Given the description of an element on the screen output the (x, y) to click on. 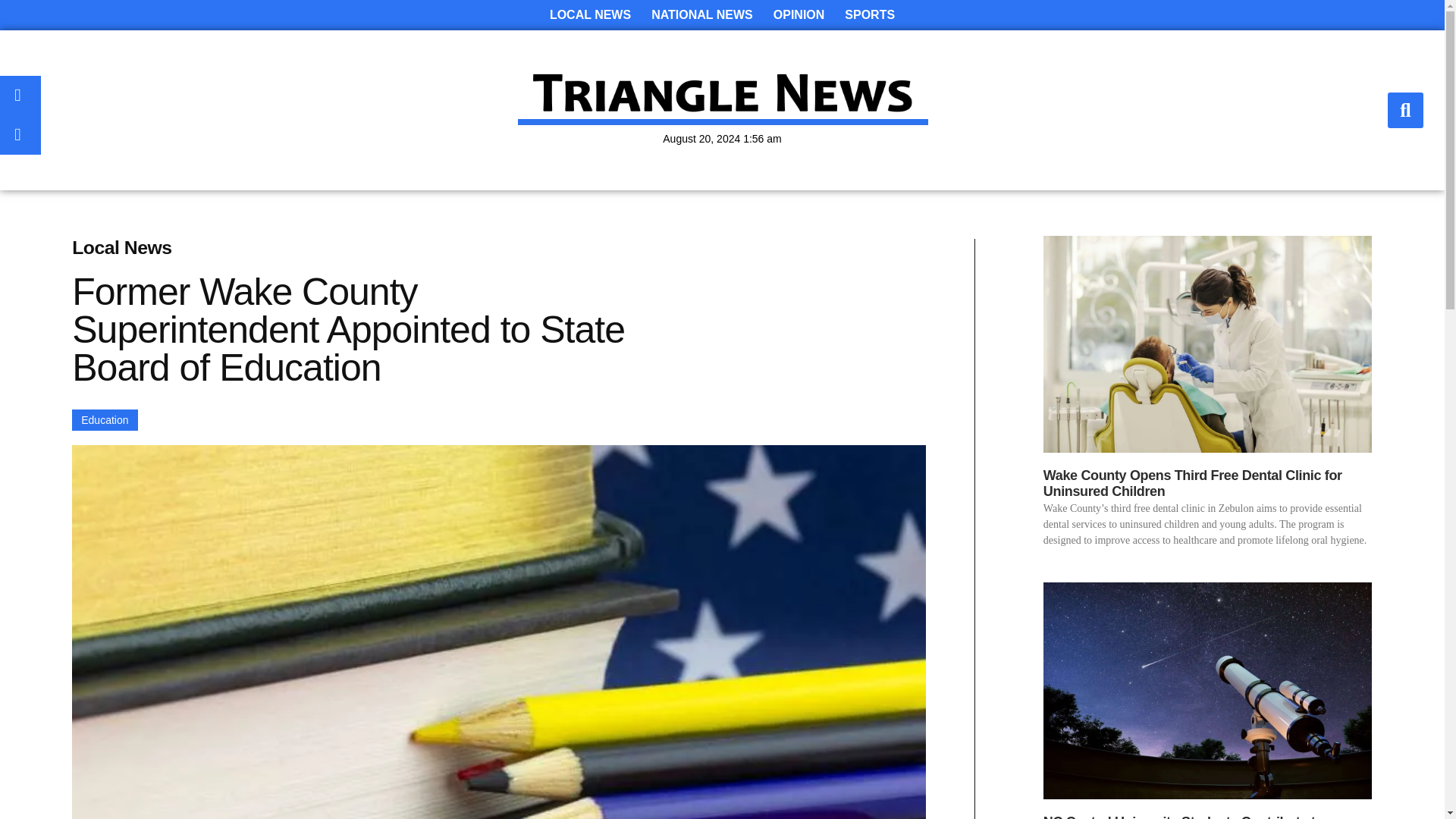
NATIONAL NEWS (701, 15)
OPINION (798, 15)
LOCAL NEWS (590, 15)
Education (103, 419)
SPORTS (869, 15)
